Given the description of an element on the screen output the (x, y) to click on. 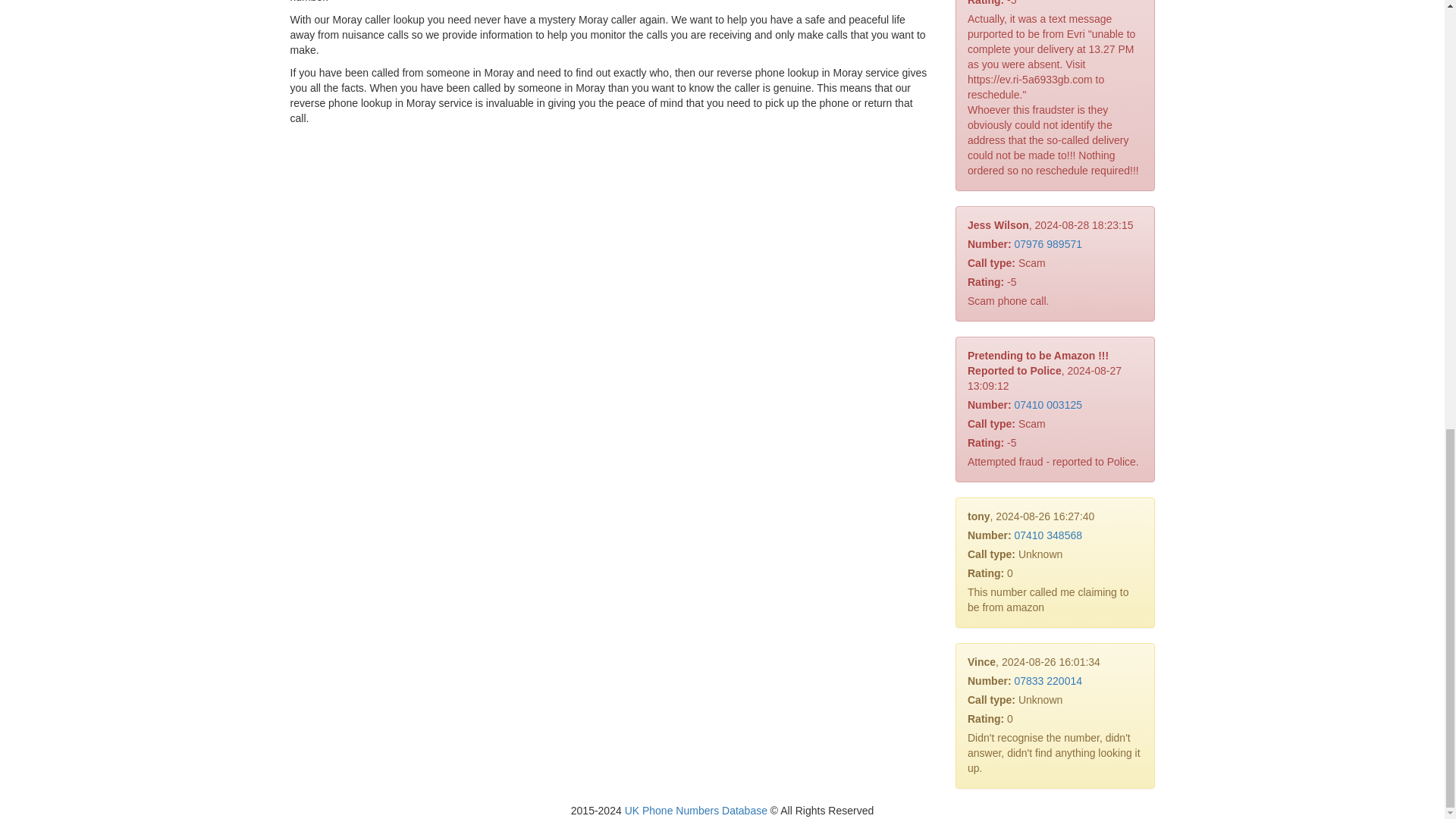
07976 989571 (1047, 244)
07410 348568 (1047, 535)
UK Phone Numbers Database (695, 810)
07833 220014 (1047, 680)
07976 989571 (1047, 244)
07410 003125 (1047, 404)
07410 003125 (1047, 404)
